Given the description of an element on the screen output the (x, y) to click on. 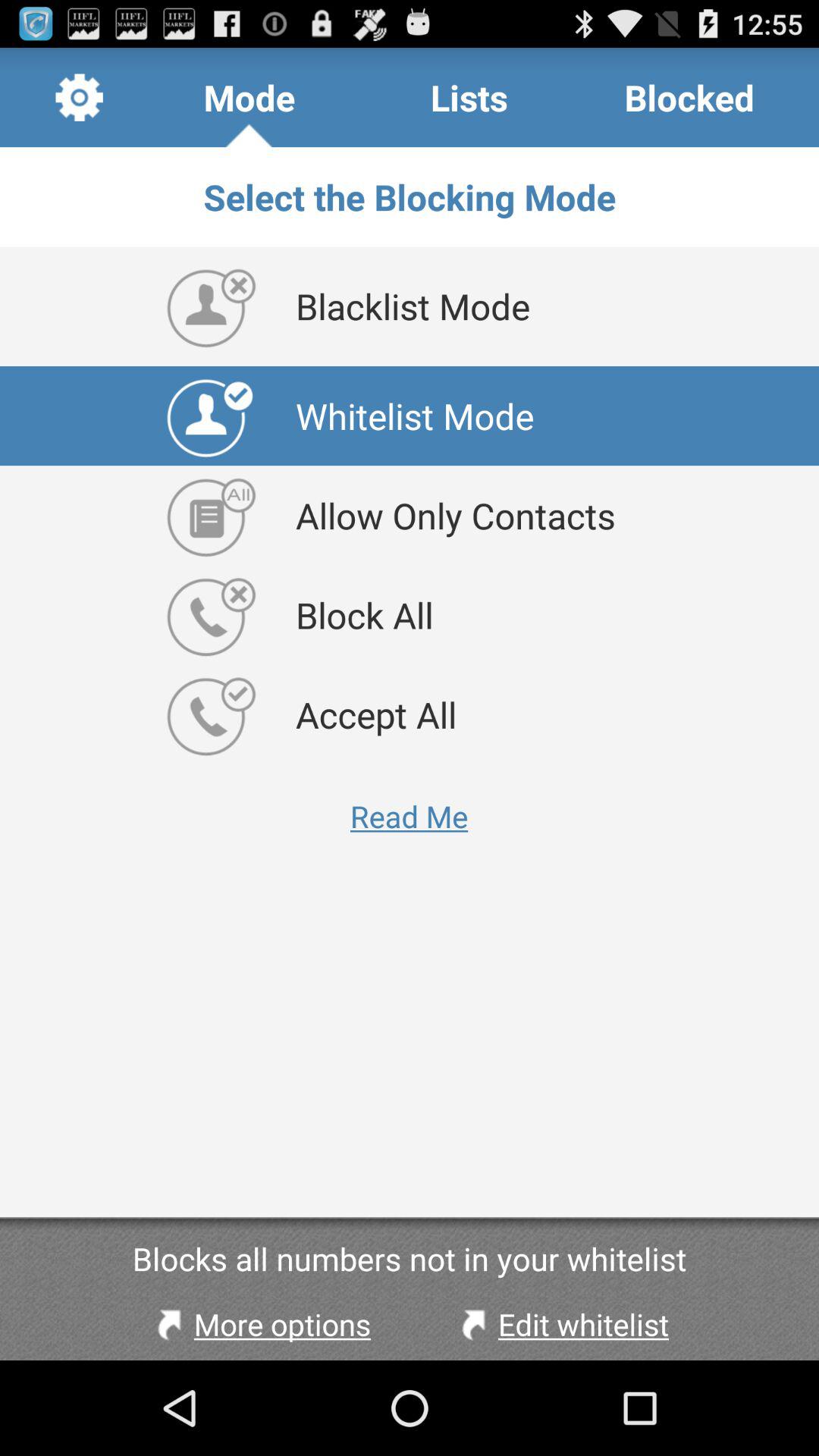
click icon above the select the blocking app (79, 97)
